Given the description of an element on the screen output the (x, y) to click on. 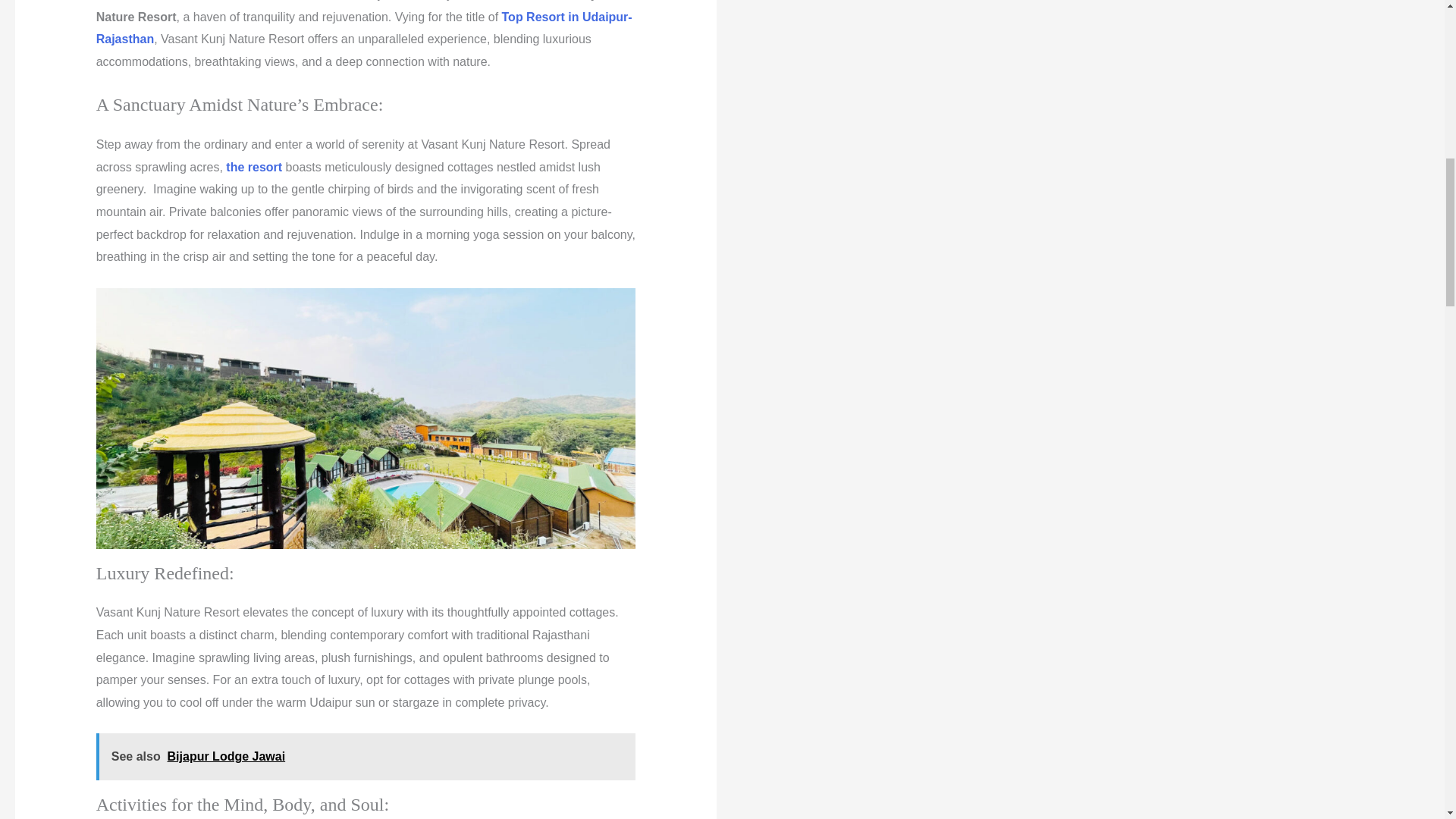
the resort (253, 166)
Top Resort in Udaipur-Rajasthan (363, 27)
See also  Bijapur Lodge Jawai (366, 756)
